Given the description of an element on the screen output the (x, y) to click on. 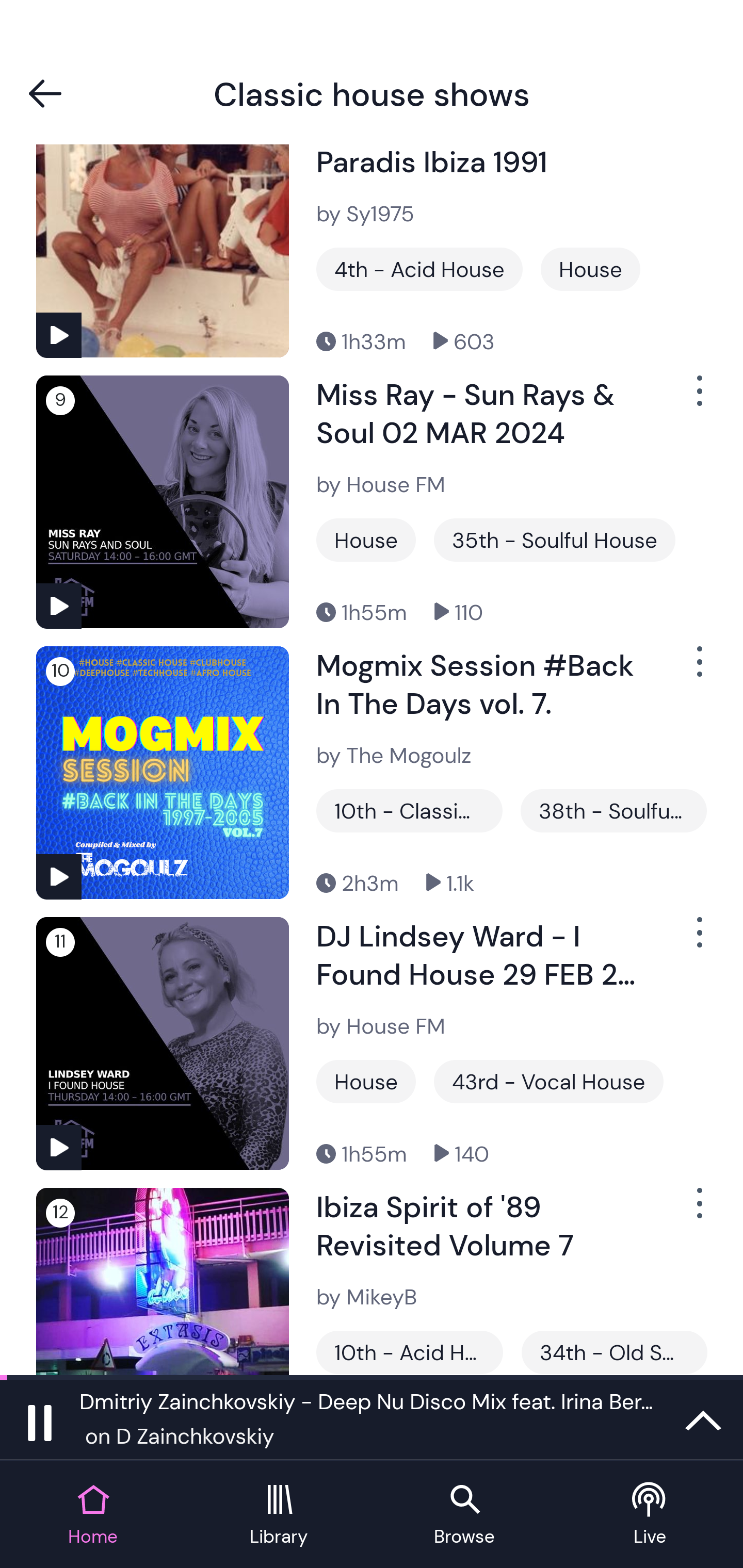
4th - Acid House (419, 269)
House (590, 269)
Show Options Menu Button (697, 397)
House (366, 540)
35th - Soulful House (554, 540)
Show Options Menu Button (697, 669)
10th - Classic House (409, 810)
38th - Soulful House (613, 810)
Show Options Menu Button (697, 940)
House (366, 1081)
43rd - Vocal House (548, 1081)
Show Options Menu Button (697, 1211)
10th - Acid House (409, 1352)
34th - Old School (613, 1352)
Home tab Home (92, 1515)
Library tab Library (278, 1515)
Browse tab Browse (464, 1515)
Live tab Live (650, 1515)
